Given the description of an element on the screen output the (x, y) to click on. 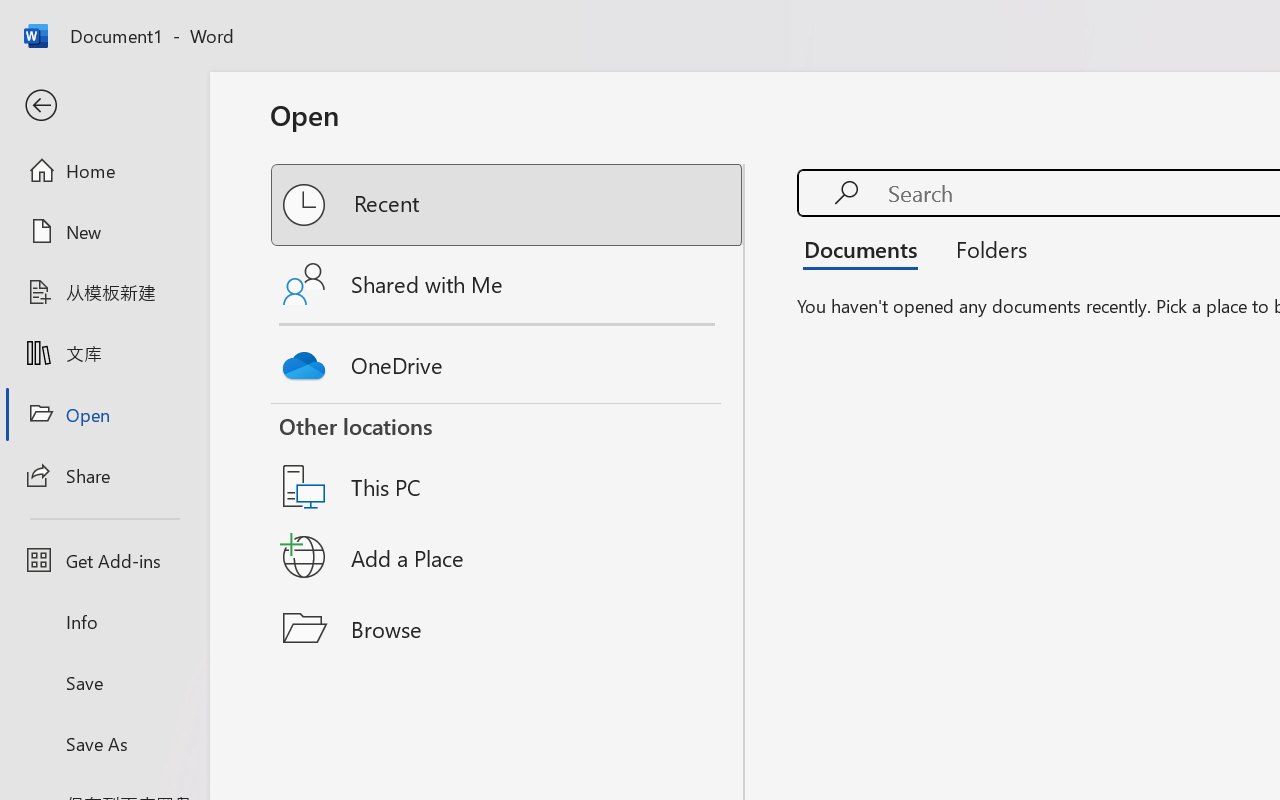
Folders (984, 248)
OneDrive (507, 359)
Get Add-ins (104, 560)
Add a Place (507, 557)
Browse (507, 627)
Shared with Me (507, 283)
Documents (866, 248)
Recent (507, 205)
This PC (507, 461)
New (104, 231)
